Given the description of an element on the screen output the (x, y) to click on. 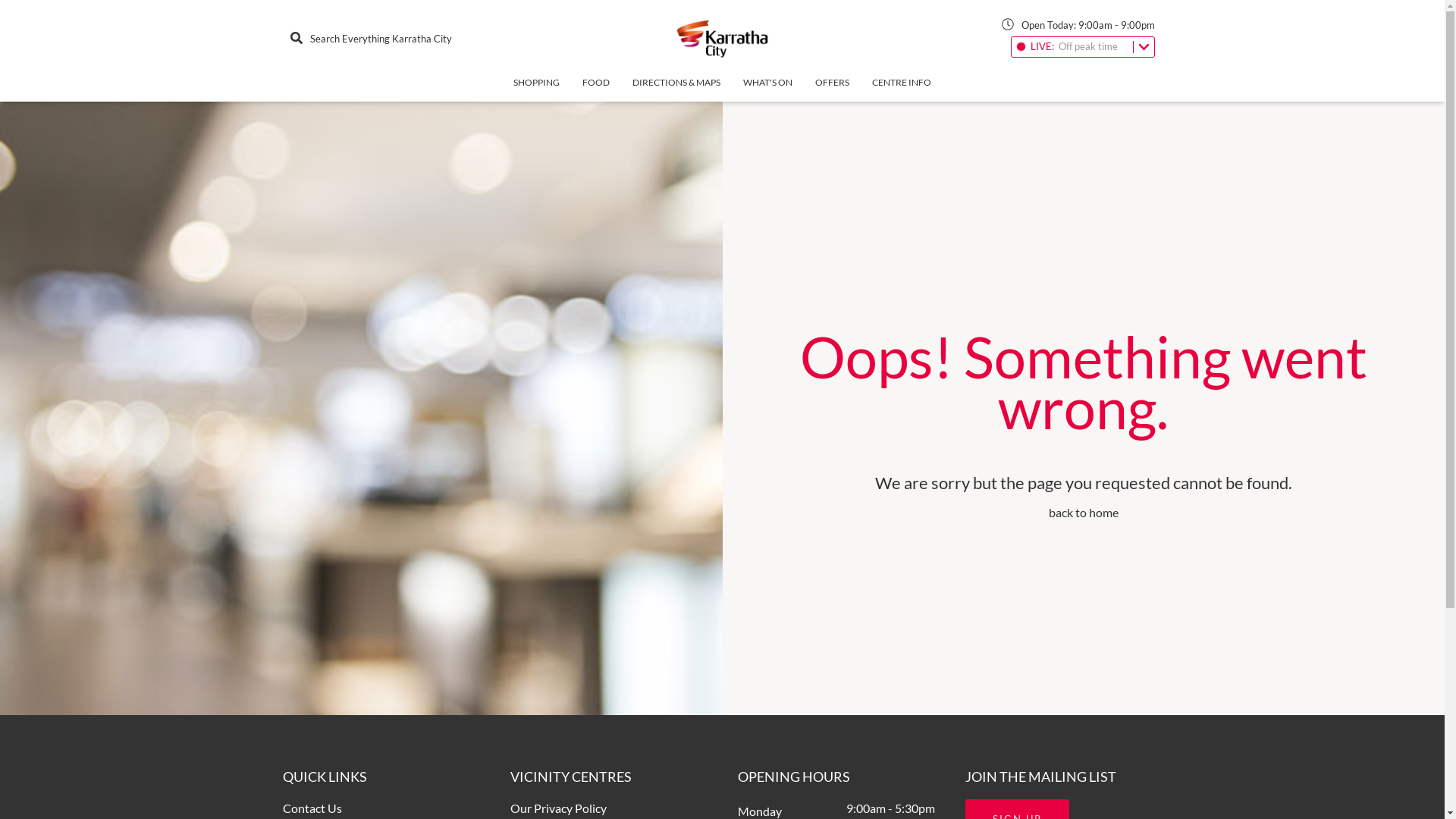
back to home Element type: text (1083, 512)
Contact Us Element type: text (311, 807)
WHAT'S ON Element type: text (767, 88)
FOOD Element type: text (595, 88)
Our Privacy Policy Element type: text (557, 807)
CENTRE INFO Element type: text (901, 88)
OFFERS Element type: text (832, 88)
SHOPPING Element type: text (536, 88)
DIRECTIONS & MAPS Element type: text (676, 88)
Open Today: 9:00am - 9:00pm Element type: text (1077, 27)
